Given the description of an element on the screen output the (x, y) to click on. 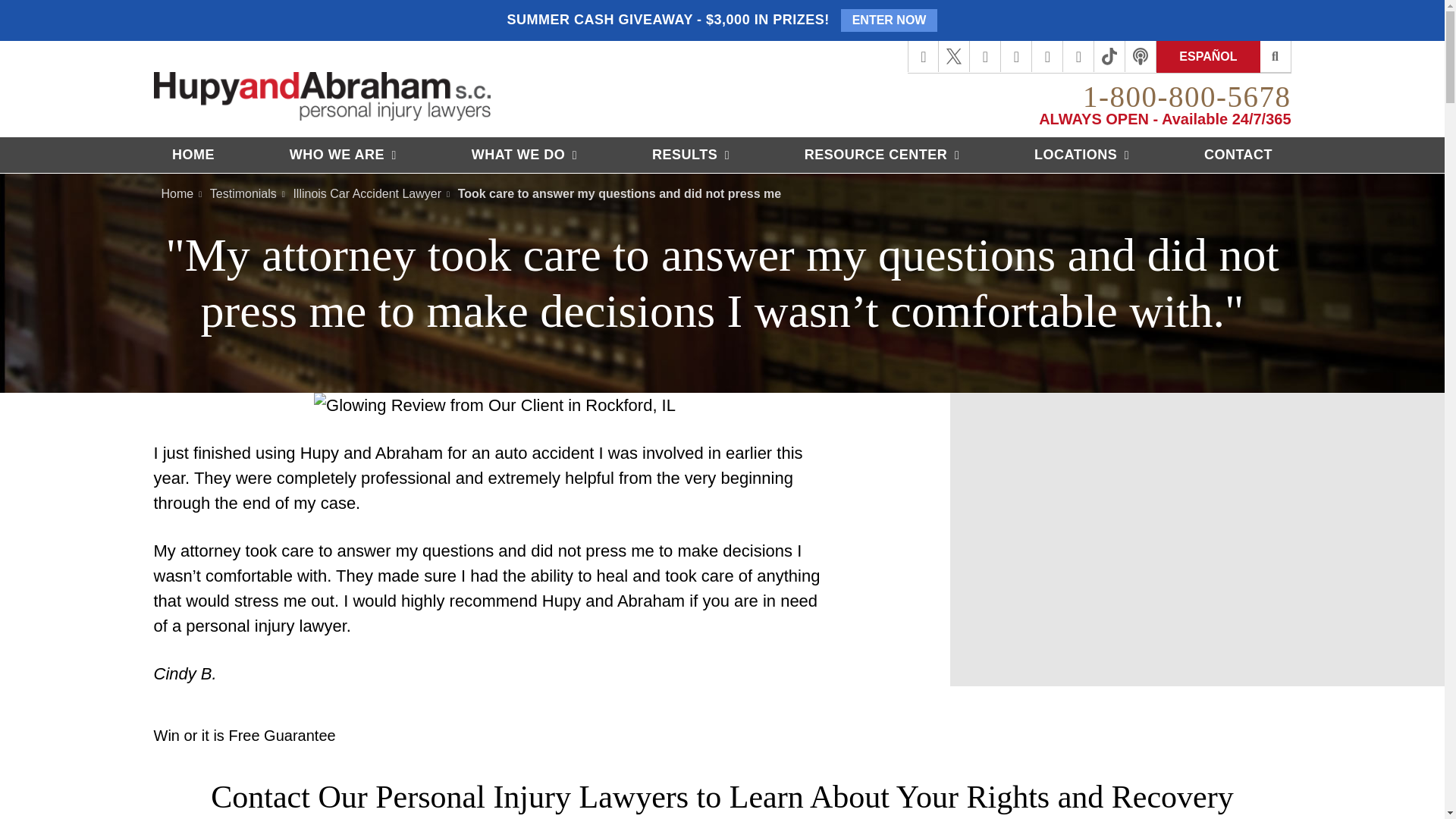
Search (1275, 56)
WHAT WE DO (523, 154)
WHO WE ARE (342, 154)
1-800-800-5678 (1186, 96)
HOME (193, 154)
ENTER NOW (889, 20)
